Given the description of an element on the screen output the (x, y) to click on. 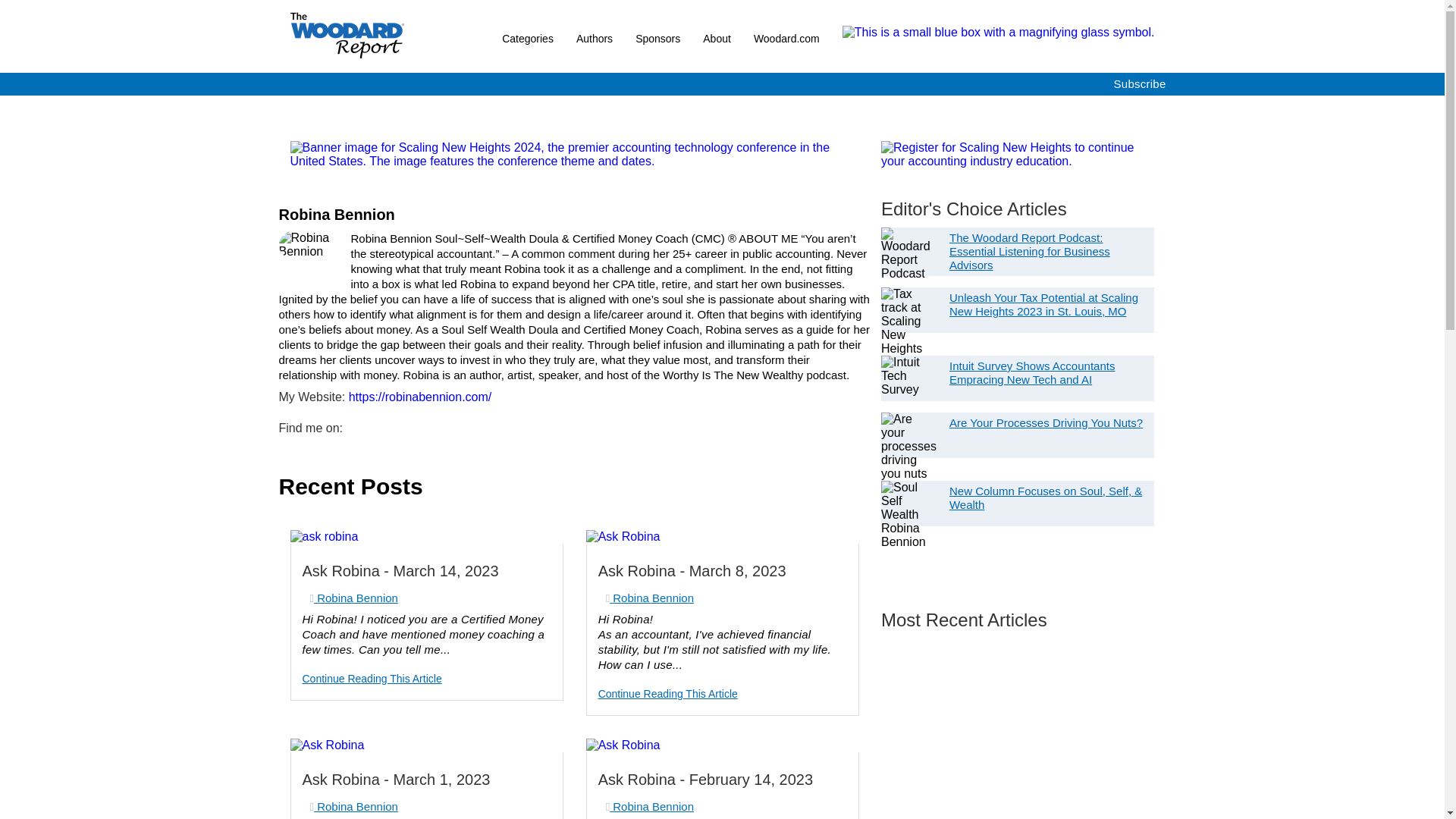
About (716, 38)
Woodard.com (786, 38)
Subscribe (1139, 83)
Sponsors (657, 38)
Authors (594, 38)
Categories (533, 38)
